Given the description of an element on the screen output the (x, y) to click on. 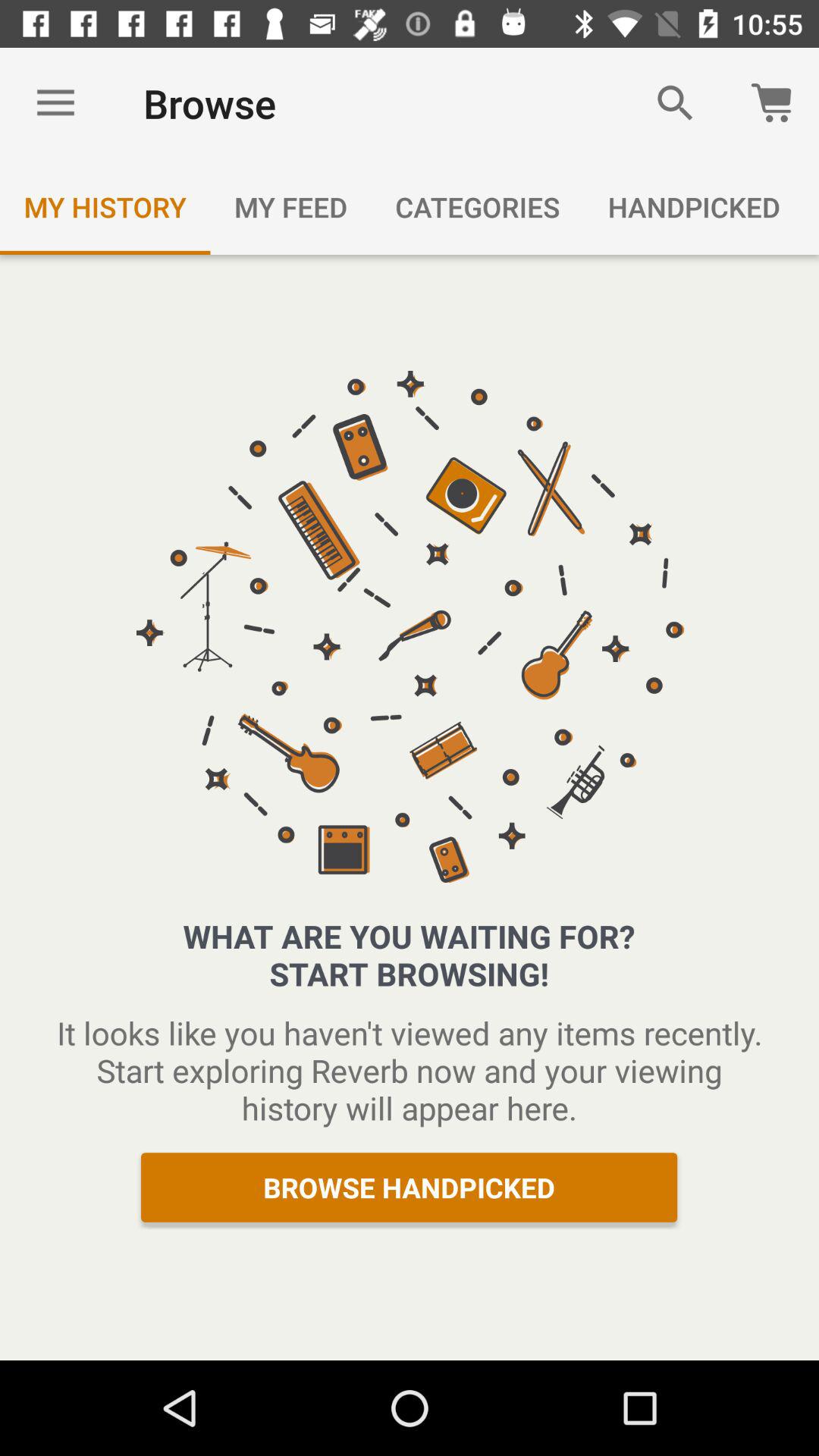
tap the item next to the browse icon (675, 103)
